Given the description of an element on the screen output the (x, y) to click on. 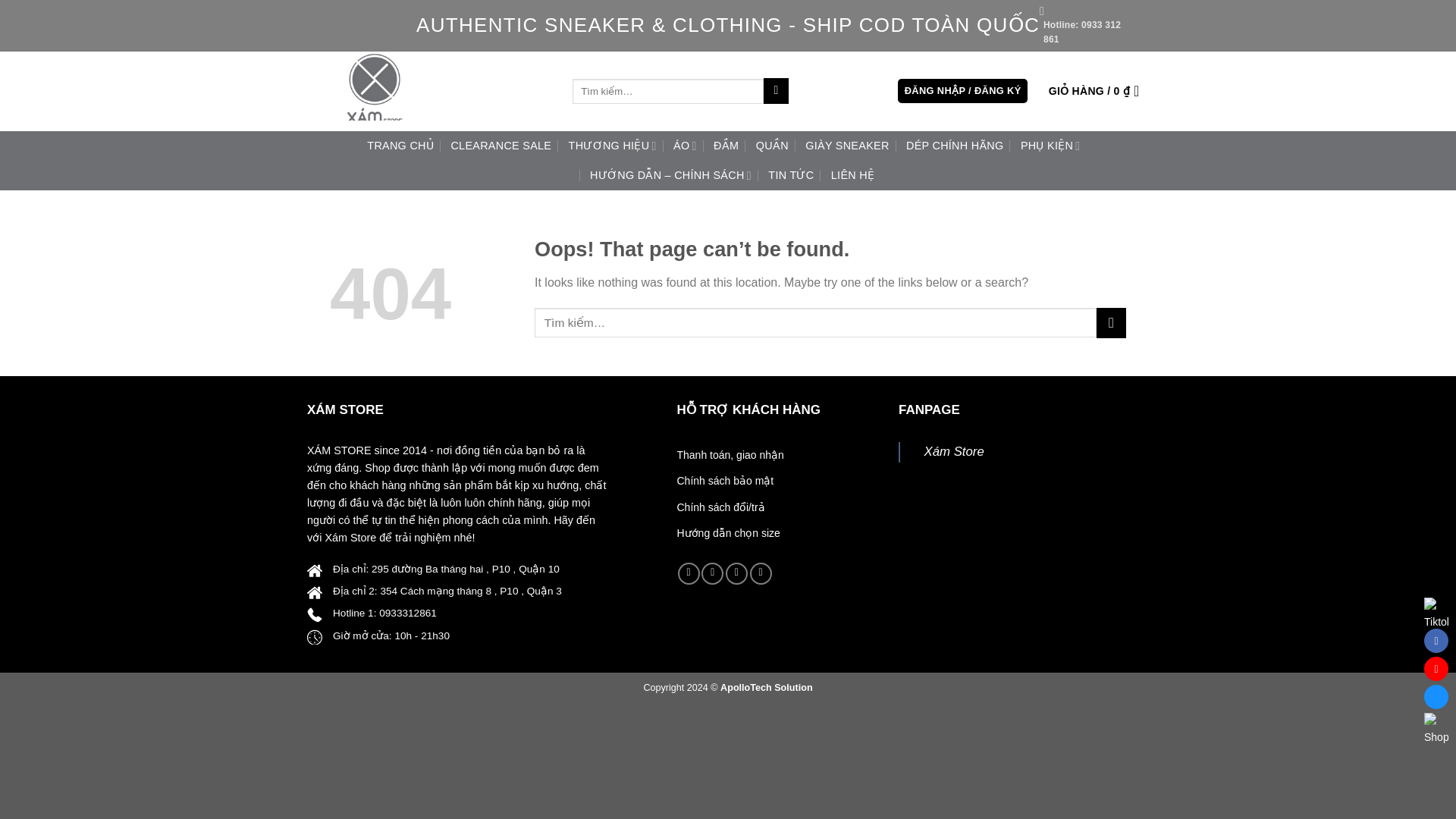
Follow on TikTok (736, 573)
Call us (760, 573)
Hotline: 0933 312 861 (1082, 25)
CLEARANCE SALE (500, 144)
Hotline: 0933 312 861 (1082, 25)
Follow on Facebook (689, 573)
Follow on Instagram (712, 573)
